Given the description of an element on the screen output the (x, y) to click on. 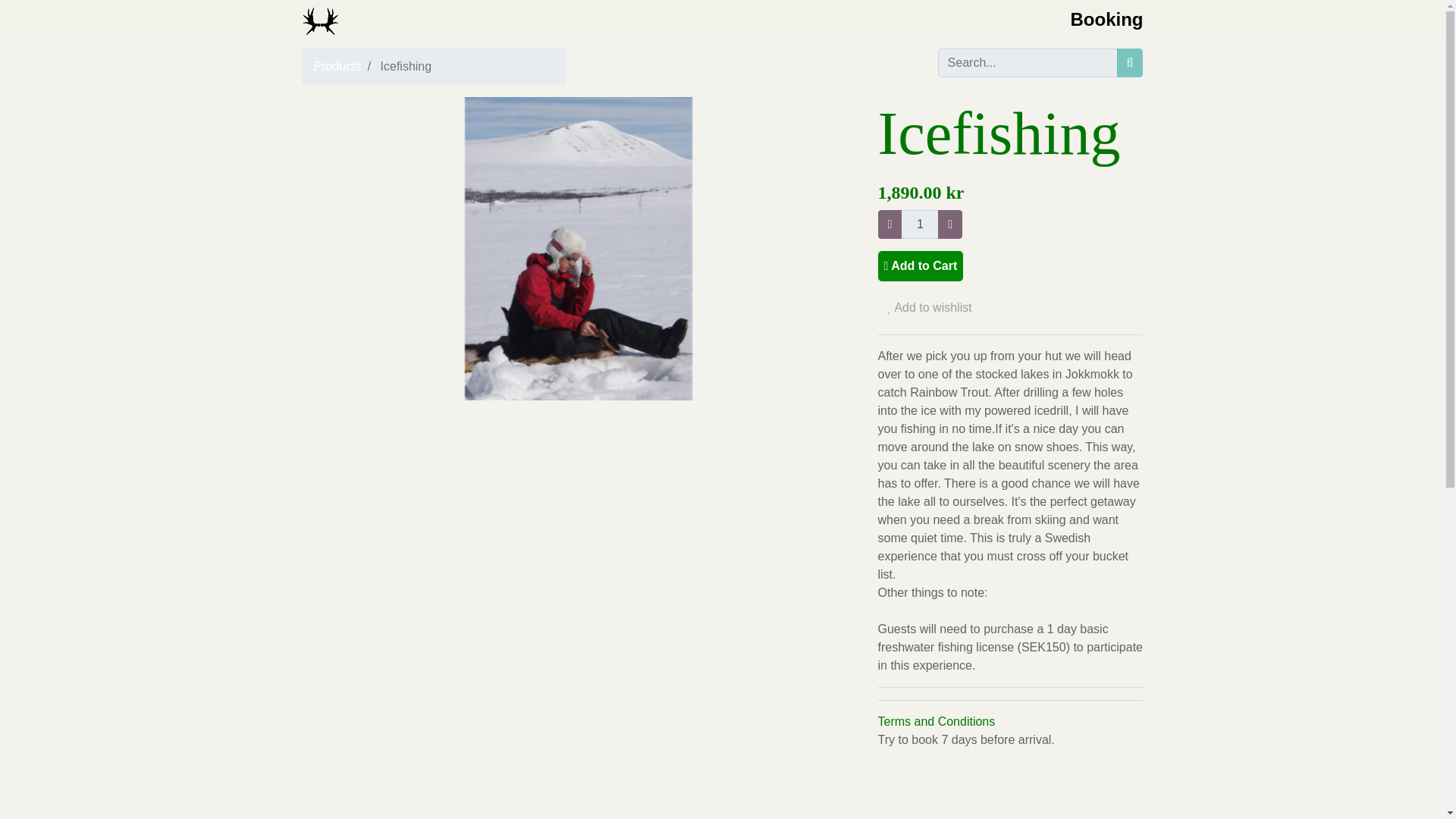
Booking (1106, 21)
Terms and Conditions (936, 721)
Add to Cart (920, 265)
Search (1129, 62)
Peaceandquiethotel (320, 21)
1 (920, 224)
Products (337, 65)
Add to wishlist (929, 307)
